Given the description of an element on the screen output the (x, y) to click on. 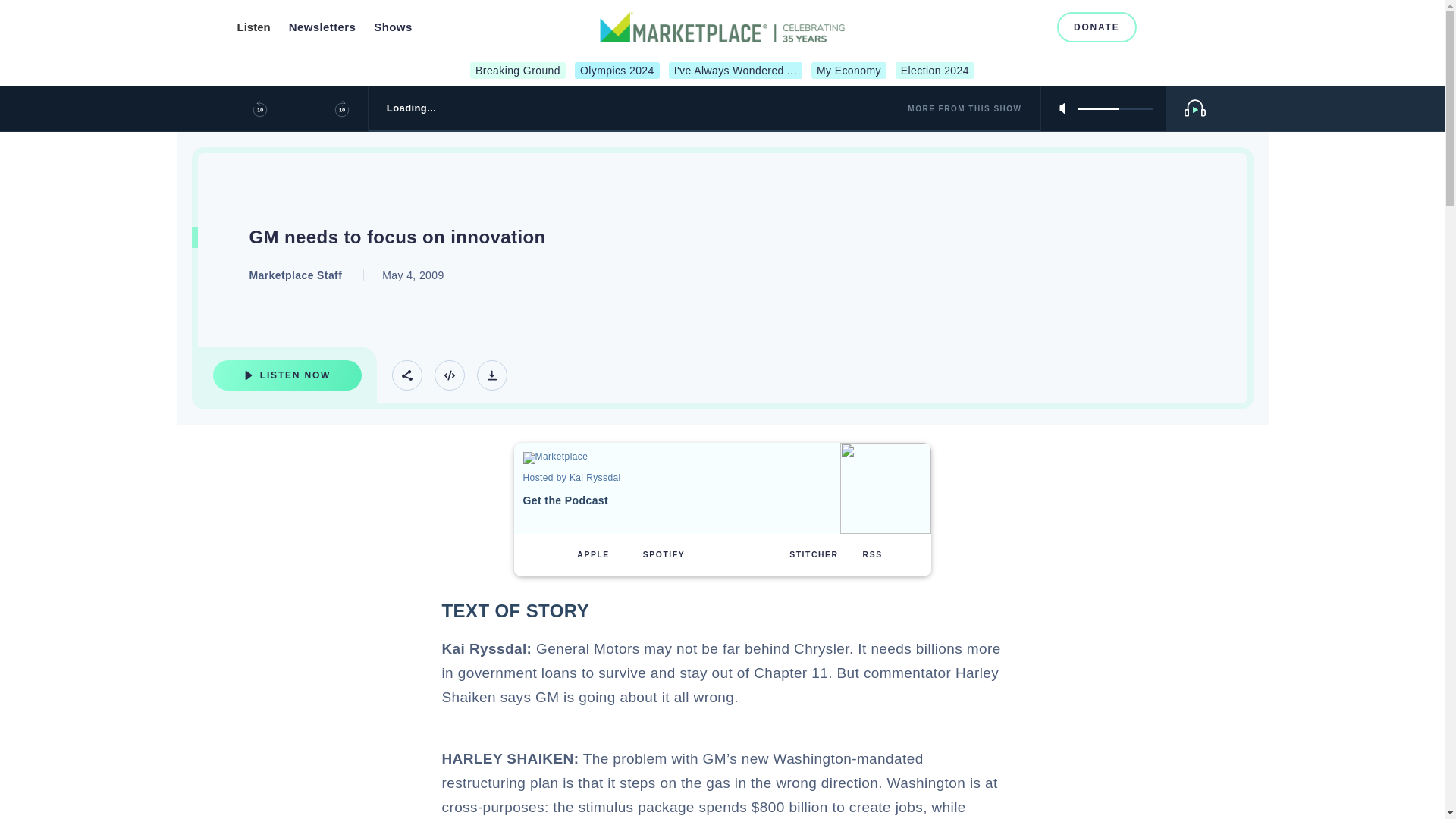
volume (1115, 108)
Marketplace (575, 458)
Search (1164, 27)
DONATE (1097, 27)
Listen Now (286, 374)
TikTok (1035, 27)
Shows (393, 26)
5 (1115, 108)
Facebook (962, 27)
Download Track (491, 374)
